Given the description of an element on the screen output the (x, y) to click on. 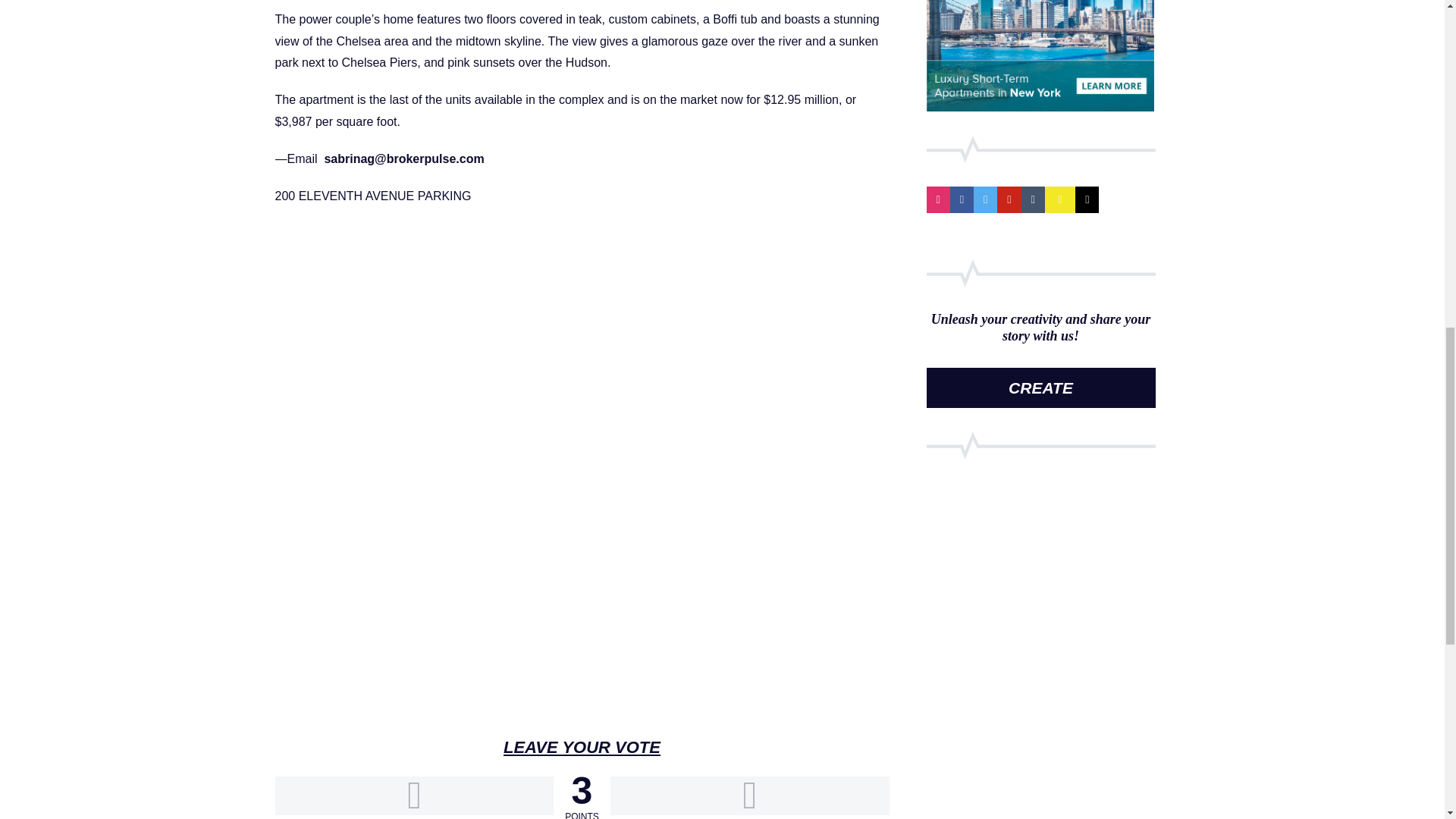
Downvote (749, 795)
Downvote (749, 795)
Upvote (414, 795)
Upvote (414, 795)
